Given the description of an element on the screen output the (x, y) to click on. 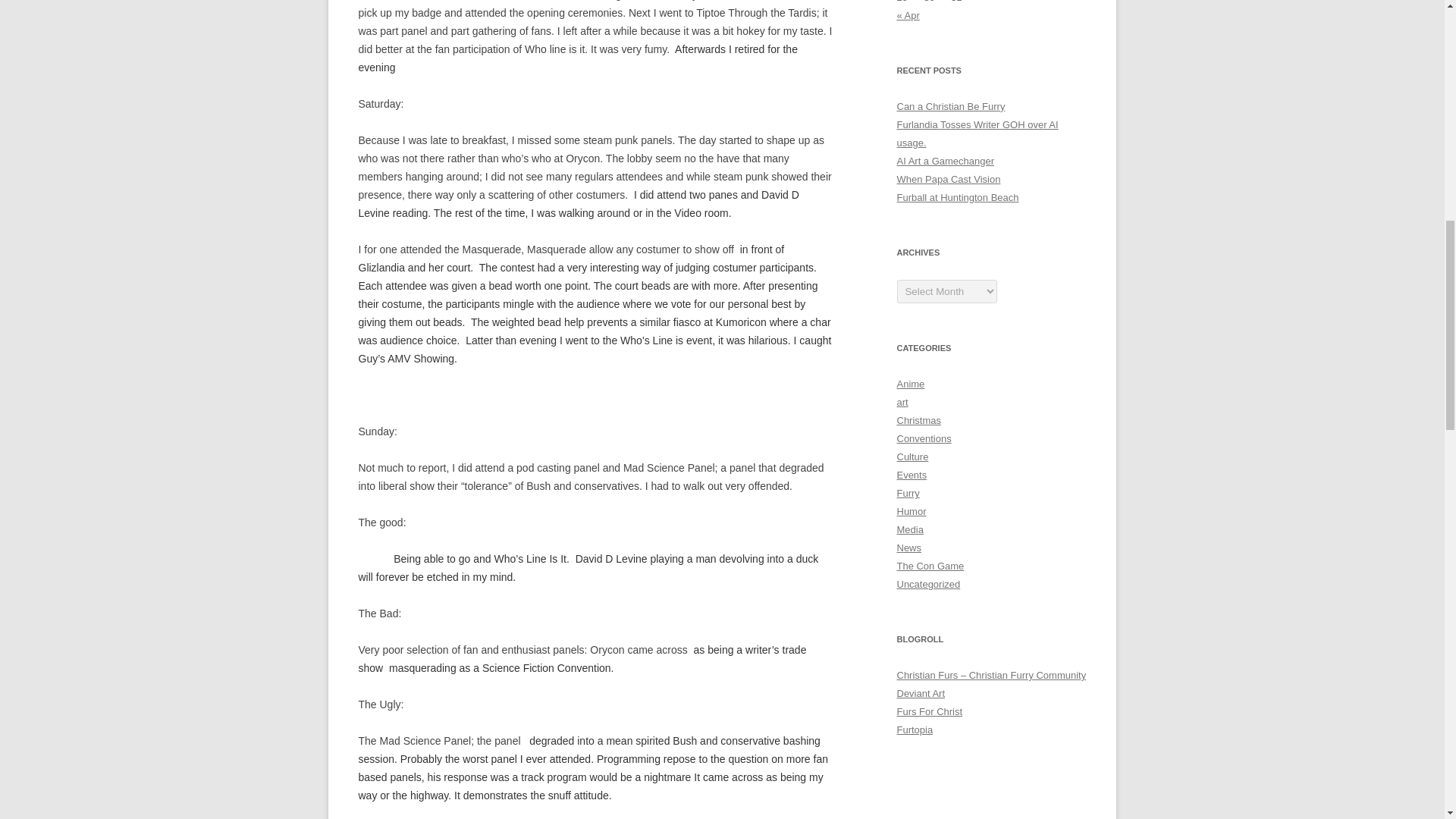
Furlandia Tosses Writer GOH over AI usage. (977, 133)
When Papa Cast Vision (948, 179)
AI Art a Gamechanger (944, 161)
Furball at Huntington Beach (956, 197)
One the better family friendly forms (914, 729)
art (901, 401)
Anime (910, 383)
My Deviant Art Account (920, 693)
Another Christian Furry Community (991, 674)
Can a Christian Be Furry (950, 106)
Christmas (918, 419)
